Given the description of an element on the screen output the (x, y) to click on. 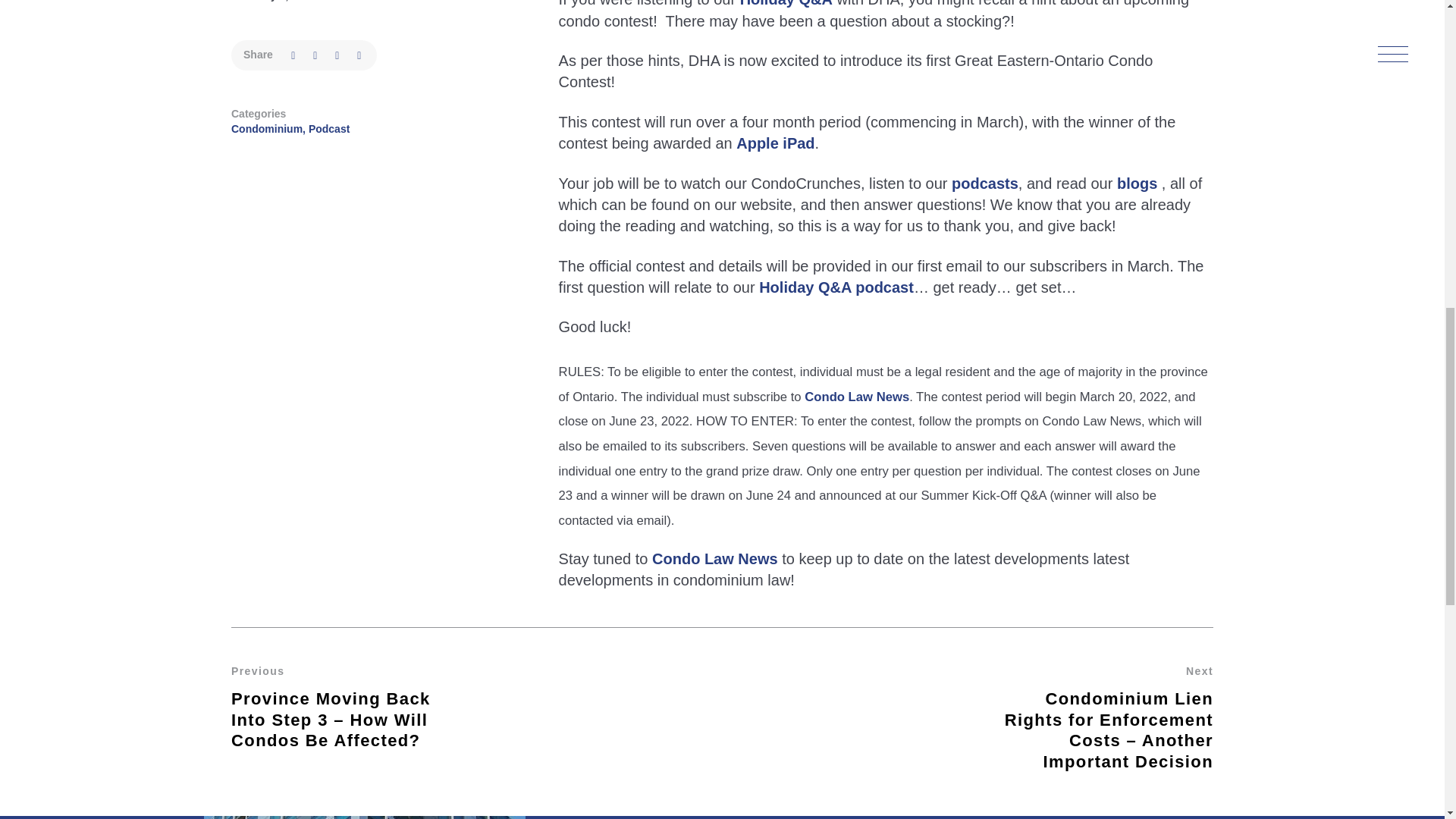
Condo Law News (856, 396)
podcasts (984, 183)
Apple iPad (774, 143)
Condo Law News (714, 558)
blogs (1136, 183)
